Given the description of an element on the screen output the (x, y) to click on. 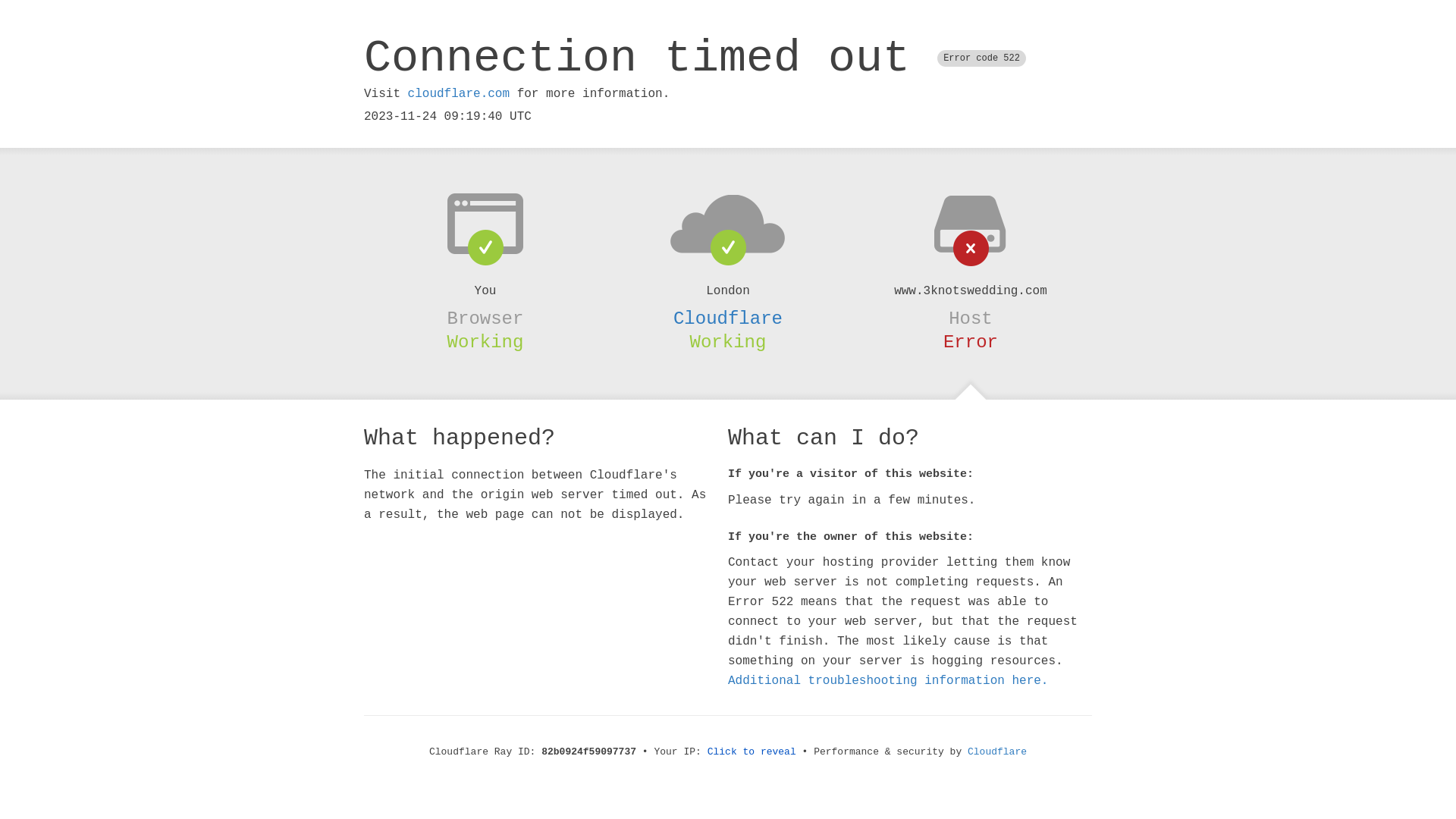
Cloudflare Element type: text (727, 318)
Click to reveal Element type: text (751, 751)
Cloudflare Element type: text (996, 751)
Additional troubleshooting information here. Element type: text (888, 680)
cloudflare.com Element type: text (458, 93)
